Given the description of an element on the screen output the (x, y) to click on. 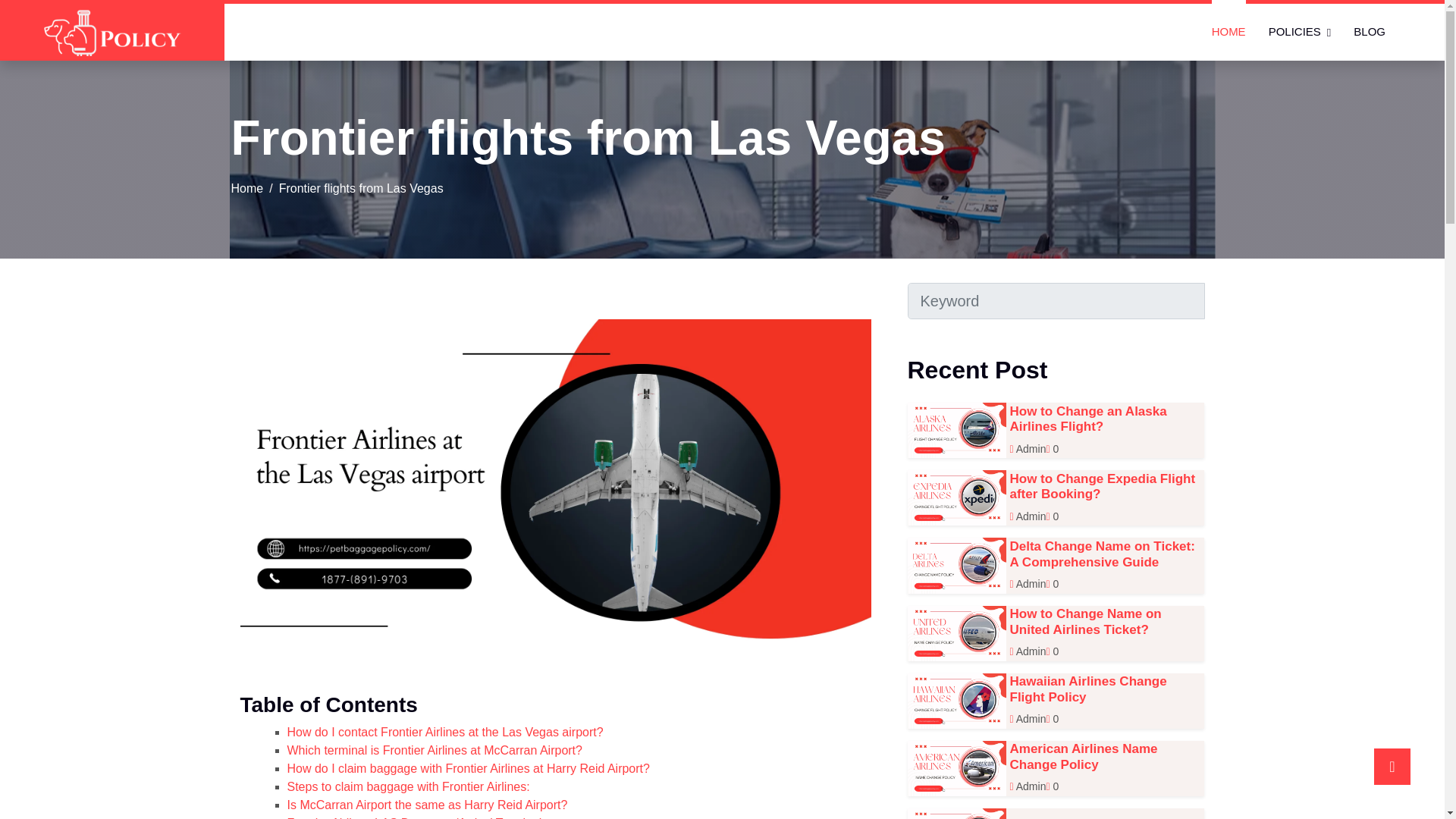
POLICIES (1300, 31)
Home (246, 187)
How do I contact Frontier Airlines at the Las Vegas airport? (444, 731)
Hawaiian Airlines Change Flight Policy (1088, 688)
How to Change an Alaska Airlines Flight? (1088, 419)
Steps to claim baggage with Frontier Airlines: (407, 786)
How to Change Name on United Airlines Ticket? (1085, 621)
Which terminal is Frontier Airlines at McCarran Airport? (433, 749)
Is McCarran Airport the same as Harry Reid Airport? (426, 804)
Delta Change Name on Ticket: A Comprehensive Guide (1102, 553)
How to Change Expedia Flight after Booking? (1102, 486)
American Airlines Name Change Policy (1083, 756)
